Given the description of an element on the screen output the (x, y) to click on. 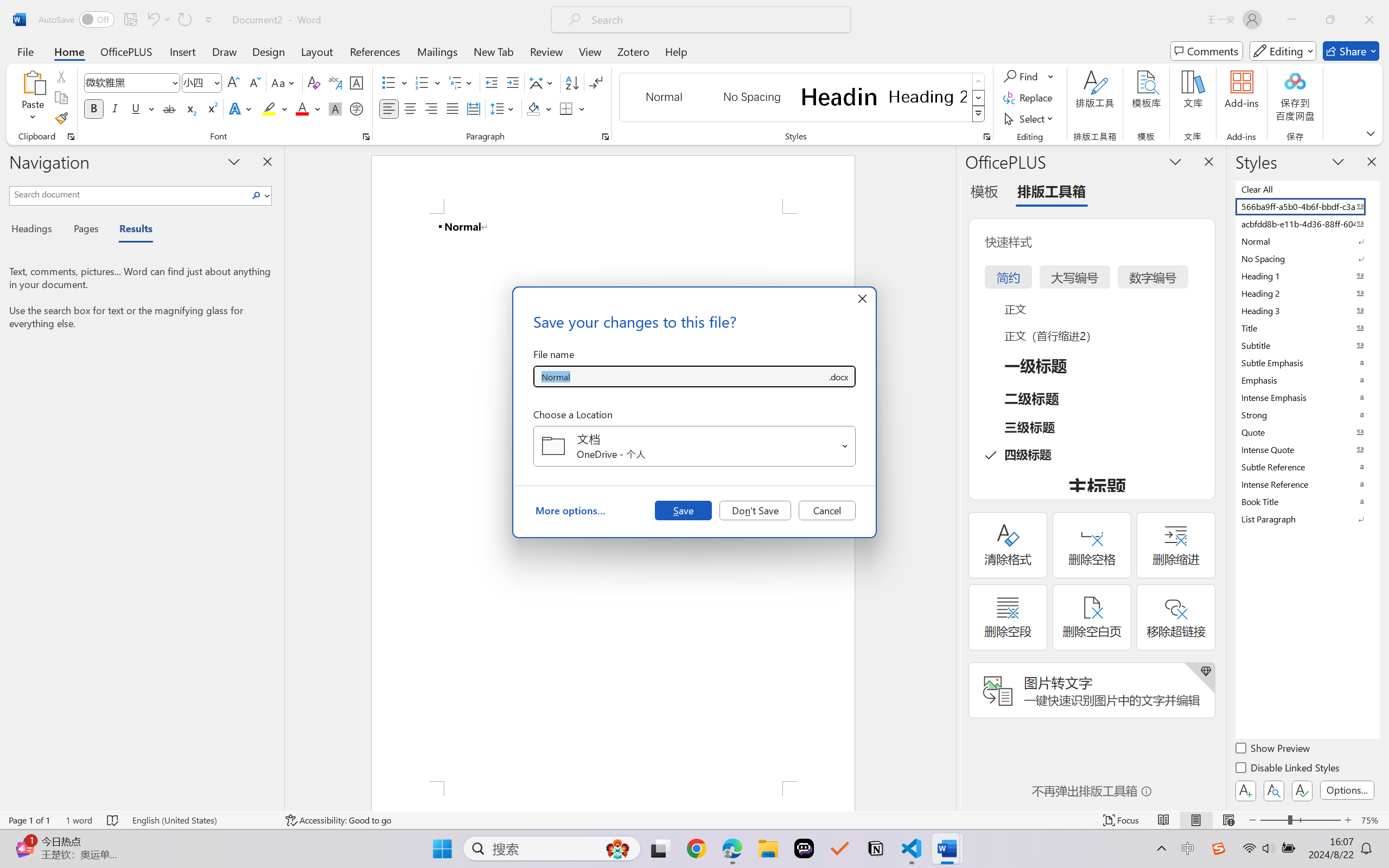
Copy (60, 97)
Font... (365, 136)
Read Mode (1163, 819)
Align Right (431, 108)
File name (680, 376)
Customize Quick Access Toolbar (208, 19)
Font Color Red (302, 108)
Font (126, 82)
Comments (1206, 50)
